Given the description of an element on the screen output the (x, y) to click on. 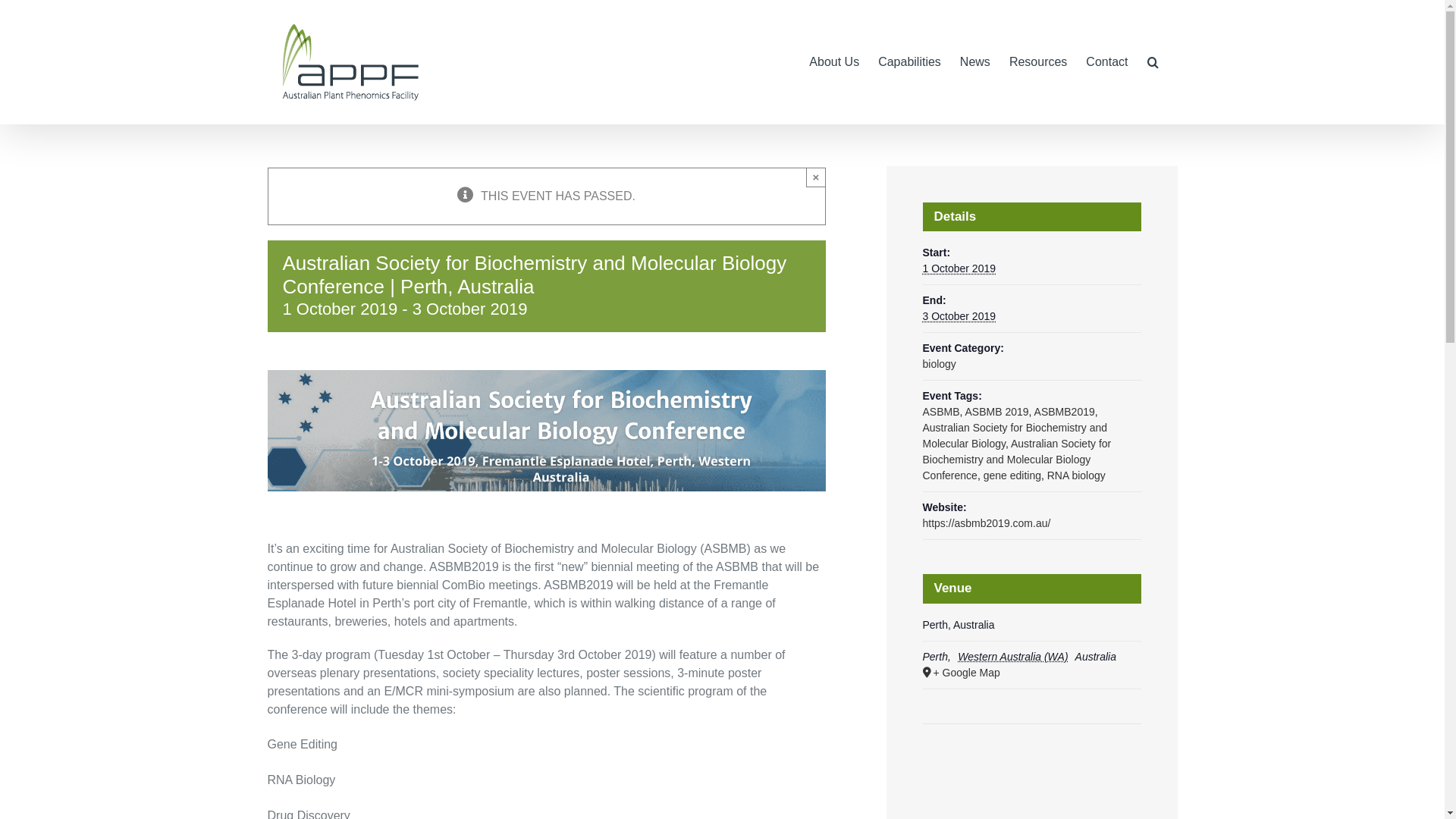
https://asbmb2019.com.au/ Element type: text (986, 523)
News Element type: text (975, 62)
Contact Element type: text (1106, 62)
Capabilities Element type: text (909, 62)
RNA biology Element type: text (1076, 475)
ASBMB 2019 Element type: text (997, 411)
Australian Society for Biochemistry and Molecular Biology Element type: text (1014, 435)
About Us Element type: text (834, 62)
Resources Element type: text (1037, 62)
ASBMB Element type: text (940, 411)
+ Google Map Element type: text (1030, 672)
Search Element type: hover (1151, 62)
biology Element type: text (938, 363)
gene editing Element type: text (1012, 475)
ASBMB2019 Element type: text (1064, 411)
